Given the description of an element on the screen output the (x, y) to click on. 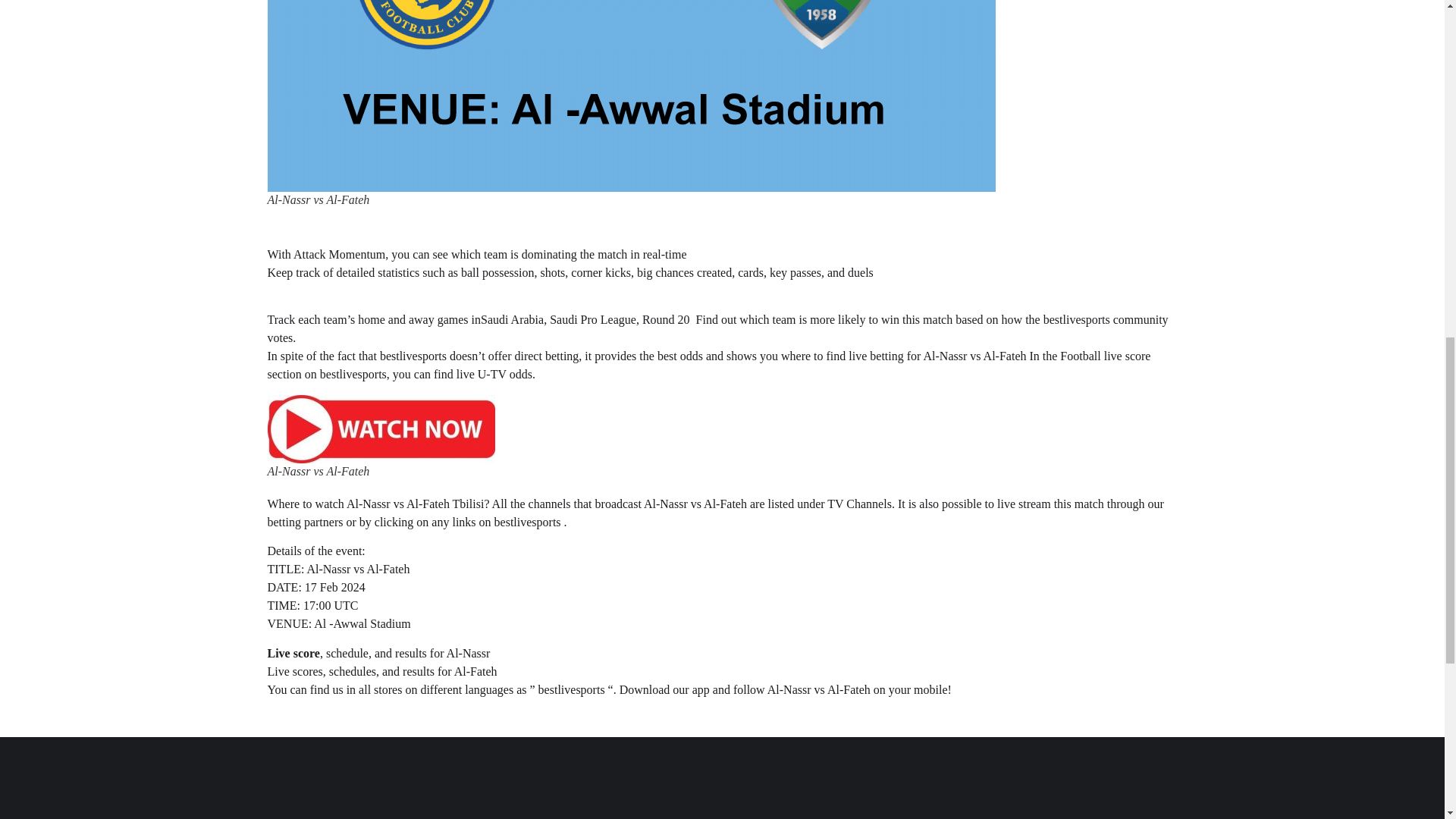
Live score (292, 653)
